Given the description of an element on the screen output the (x, y) to click on. 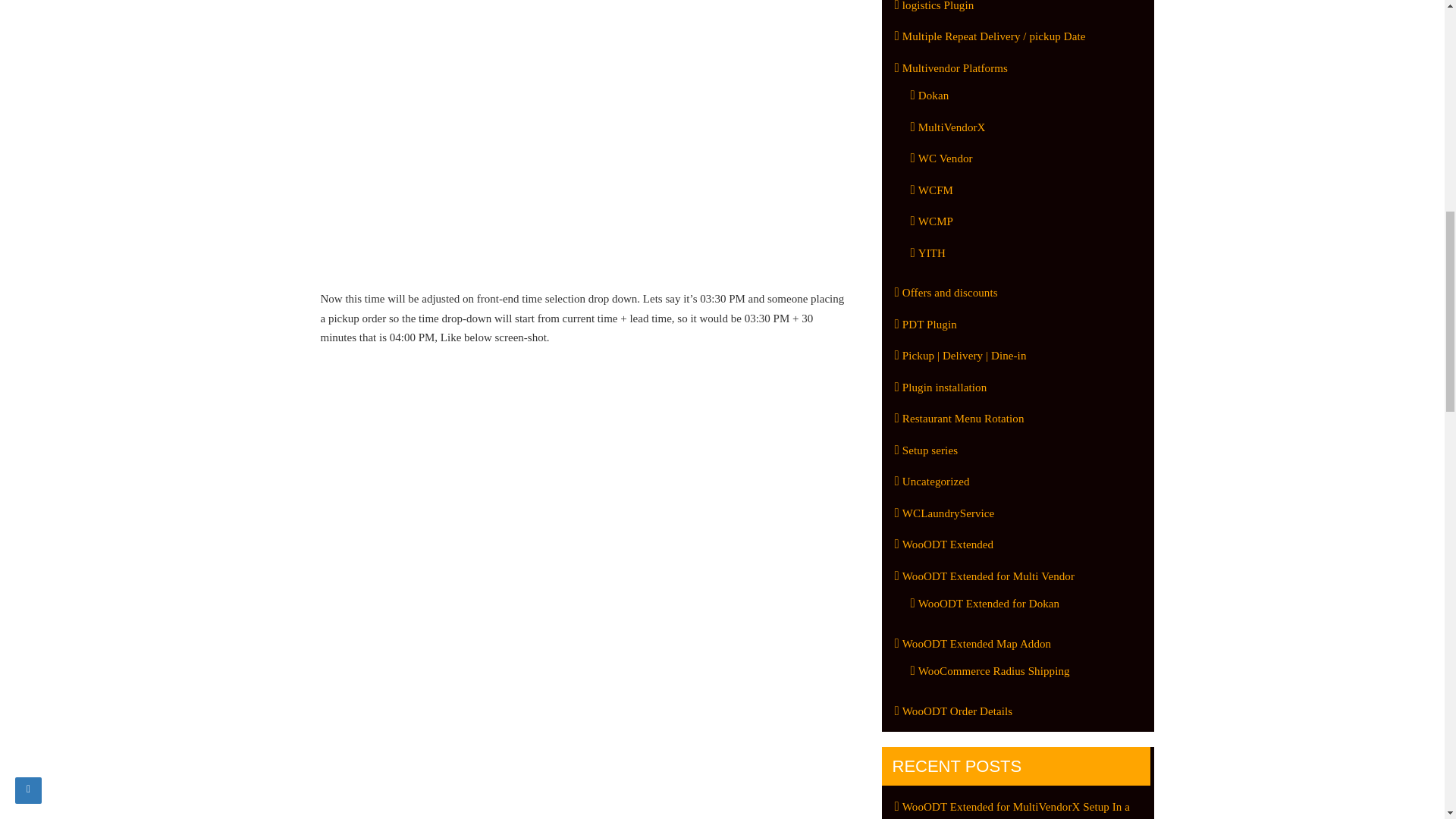
adaptation to Dokan  (930, 95)
adaptation to WCMP (932, 221)
Adaption to YITH (928, 253)
Adaption to WC vendor  (942, 158)
